Given the description of an element on the screen output the (x, y) to click on. 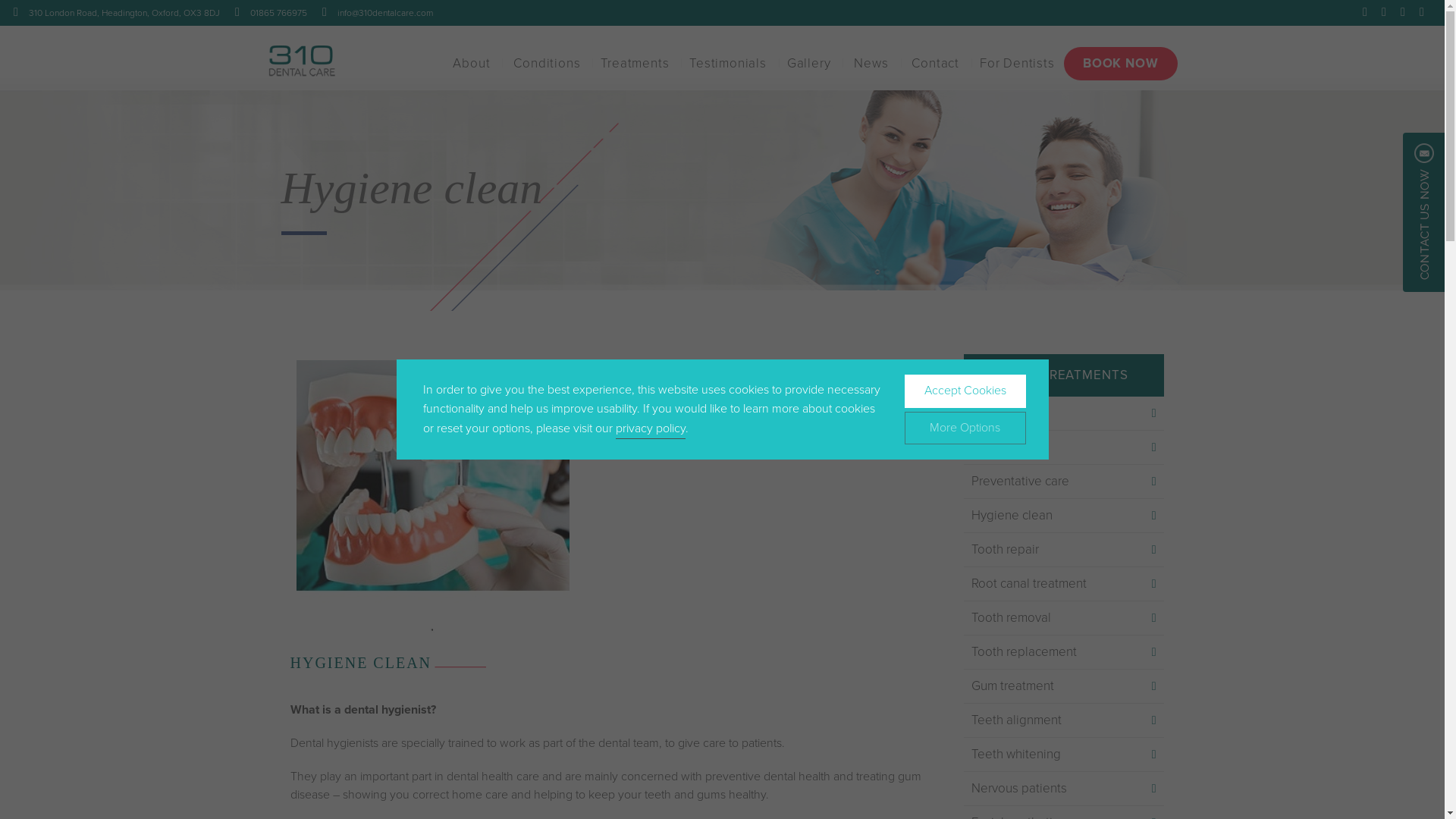
More Options Element type: text (964, 427)
Testimonials Element type: text (727, 67)
Preventative care Element type: text (1063, 481)
Hygiene clean Element type: text (1063, 515)
Tooth removal Element type: text (1063, 618)
About Element type: text (471, 67)
Root canal treatment Element type: text (1063, 584)
Tooth replacement Element type: text (1063, 652)
Emergency Element type: text (1063, 447)
Teeth whitening Element type: text (1063, 754)
Treatments Element type: text (634, 67)
News Element type: text (870, 67)
Gallery Element type: text (808, 67)
Send Your Enquiry* Element type: text (694, 594)
BOOK NOW Element type: text (1120, 67)
Gum treatment Element type: text (1063, 686)
Nervous patients Element type: text (1063, 788)
Examination Element type: text (1063, 413)
info@310dentalcare.com Element type: text (385, 12)
Conditions Element type: text (546, 67)
310 London Road, Headington, Oxford, OX3 8DJ Element type: text (123, 12)
Tooth repair Element type: text (1063, 550)
For Dentists Element type: text (1017, 67)
Contact Element type: text (935, 67)
Teeth alignment Element type: text (1063, 720)
Accept Cookies Element type: text (964, 390)
privacy policy Element type: text (650, 429)
